Given the description of an element on the screen output the (x, y) to click on. 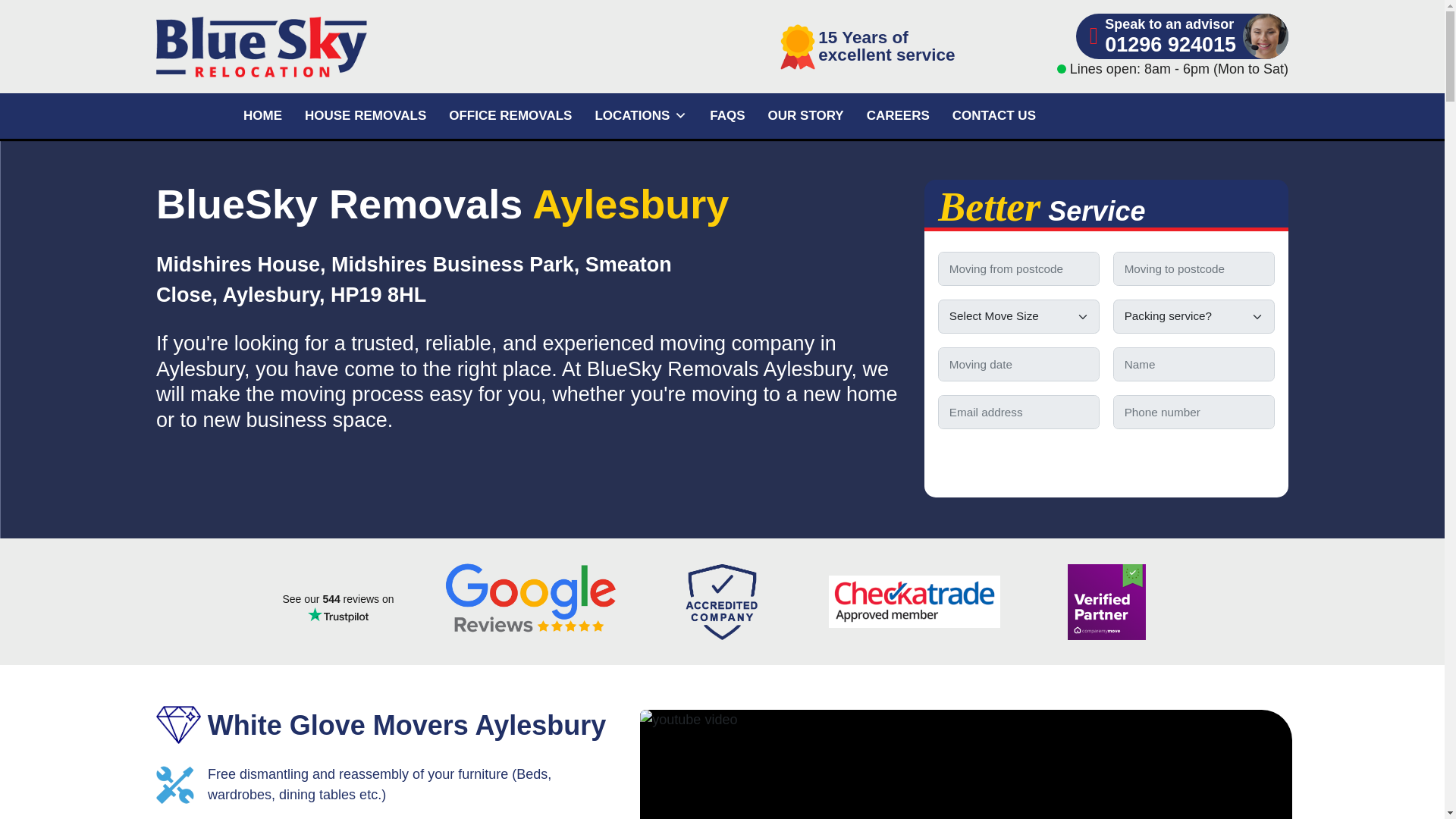
OUR STORY (806, 115)
LOCATIONS (640, 115)
Customer reviews powered by Trustpilot (337, 608)
CONTACT US (993, 115)
Blue Sky Relocation (337, 46)
FAQS (726, 115)
Get Instant Price (1106, 459)
HOME (262, 115)
OFFICE REMOVALS (510, 115)
CAREERS (898, 115)
HOUSE REMOVALS (366, 115)
01296 924015 (1170, 45)
